Given the description of an element on the screen output the (x, y) to click on. 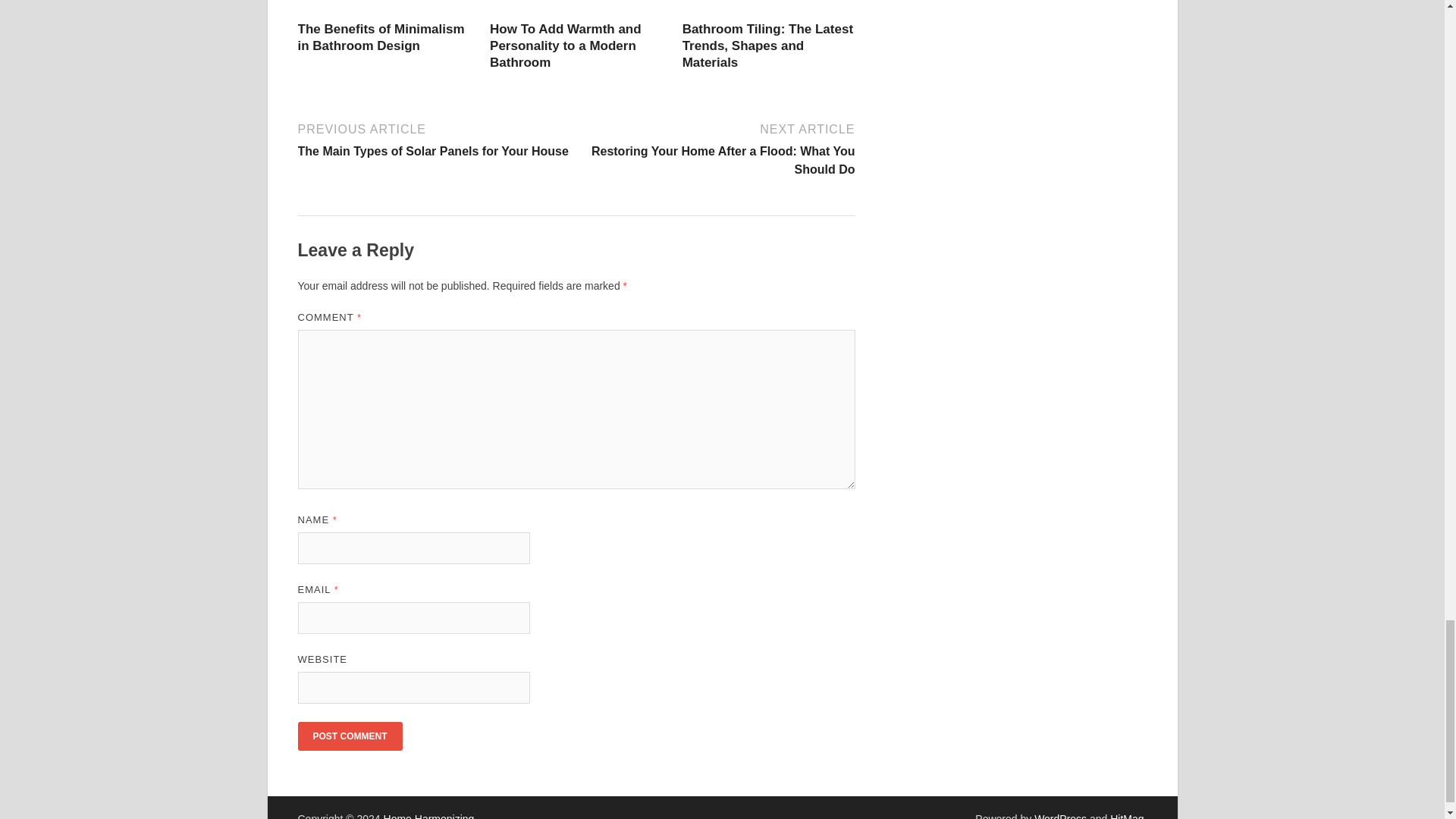
The Benefits of Minimalism in Bathroom Design (380, 37)
The Benefits of Minimalism in Bathroom Design (380, 37)
Post Comment (349, 736)
How To Add Warmth and Personality to a Modern Bathroom (565, 45)
Bathroom Tiling: The Latest Trends, Shapes and Materials (767, 45)
